Given the description of an element on the screen output the (x, y) to click on. 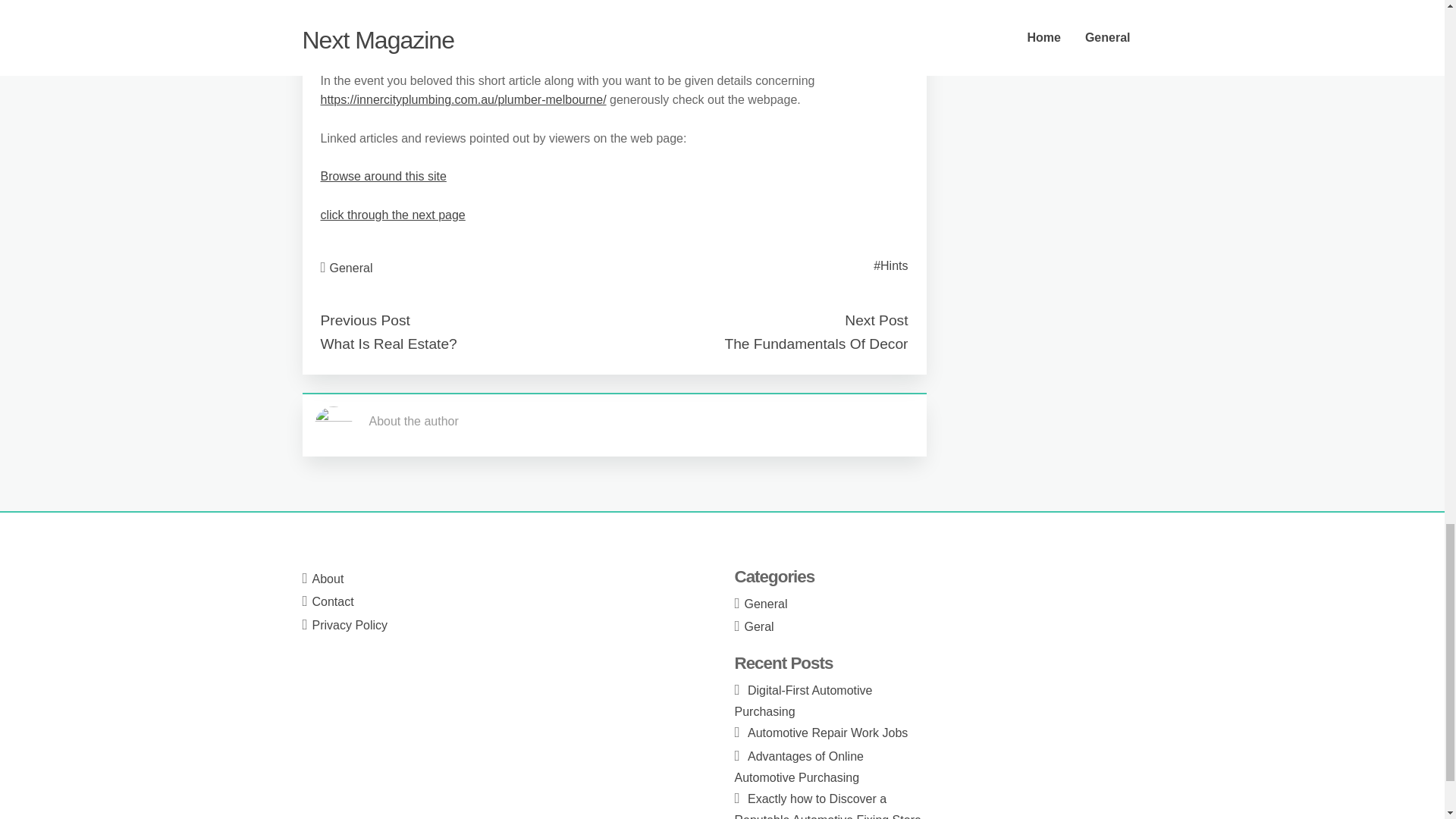
General (351, 267)
click through the next page (392, 214)
What Is Real Estate? (388, 343)
Browse around this site (382, 175)
Next Post (875, 320)
Previous Post (364, 320)
The Fundamentals Of Decor (815, 343)
